Given the description of an element on the screen output the (x, y) to click on. 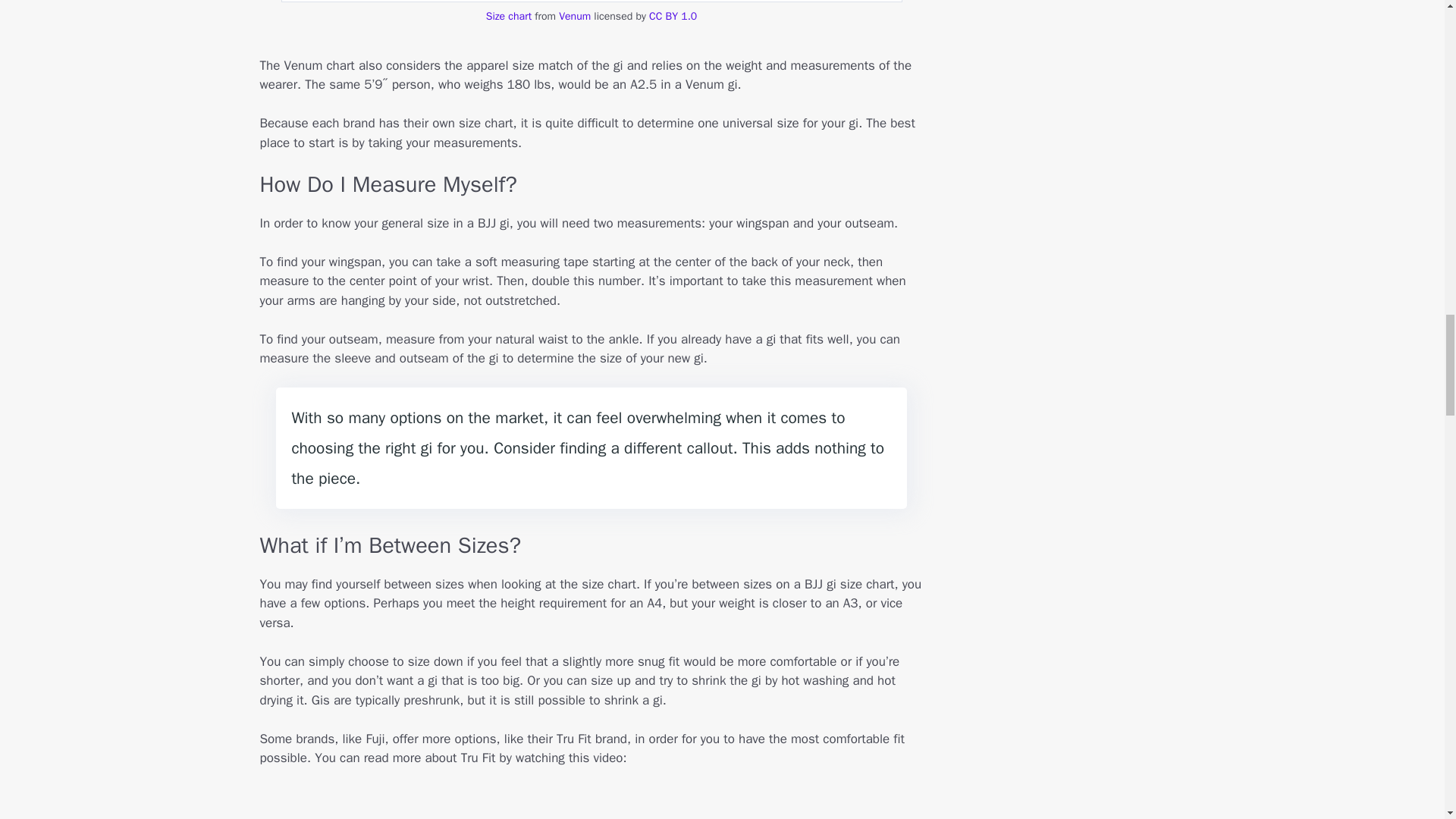
Venum (575, 15)
Size chart (508, 15)
CC BY 1.0 (673, 15)
